Given the description of an element on the screen output the (x, y) to click on. 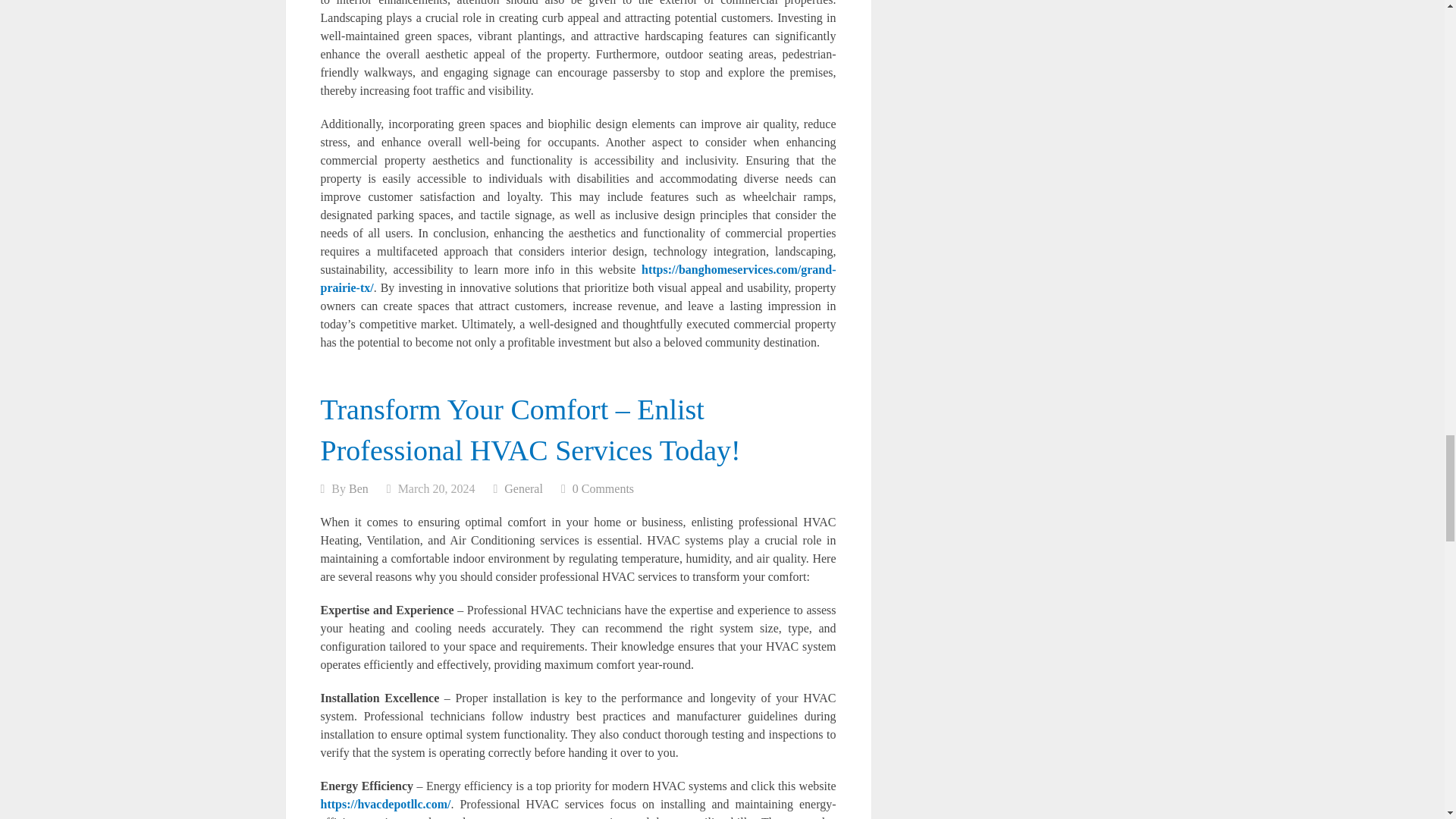
General (523, 488)
Posts by Ben (358, 488)
Ben (358, 488)
0 Comments (602, 488)
